Given the description of an element on the screen output the (x, y) to click on. 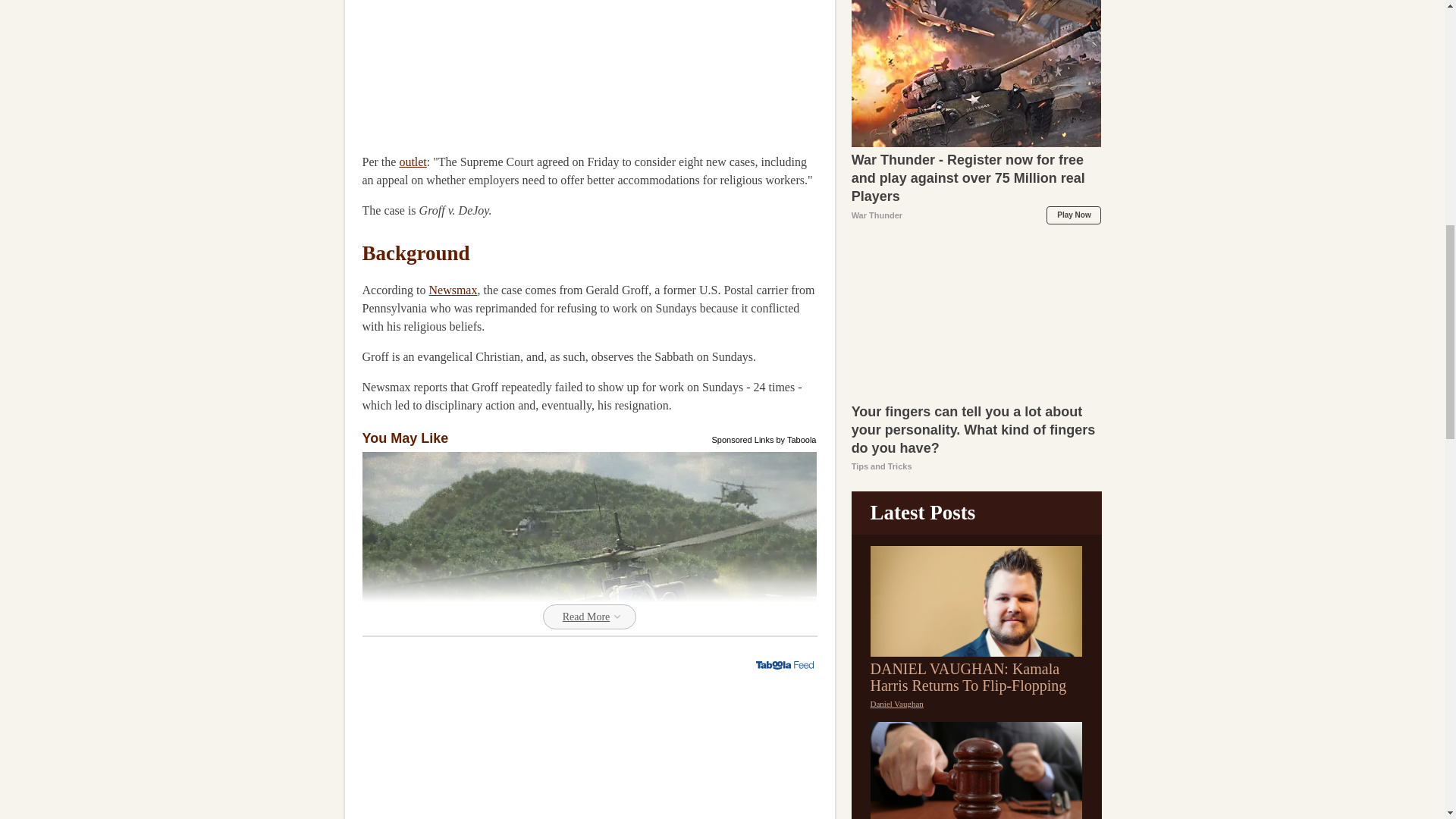
Advertisement (475, 67)
Newsmax (452, 289)
Sponsored Links (742, 437)
by Taboola (795, 437)
outlet (412, 161)
